Given the description of an element on the screen output the (x, y) to click on. 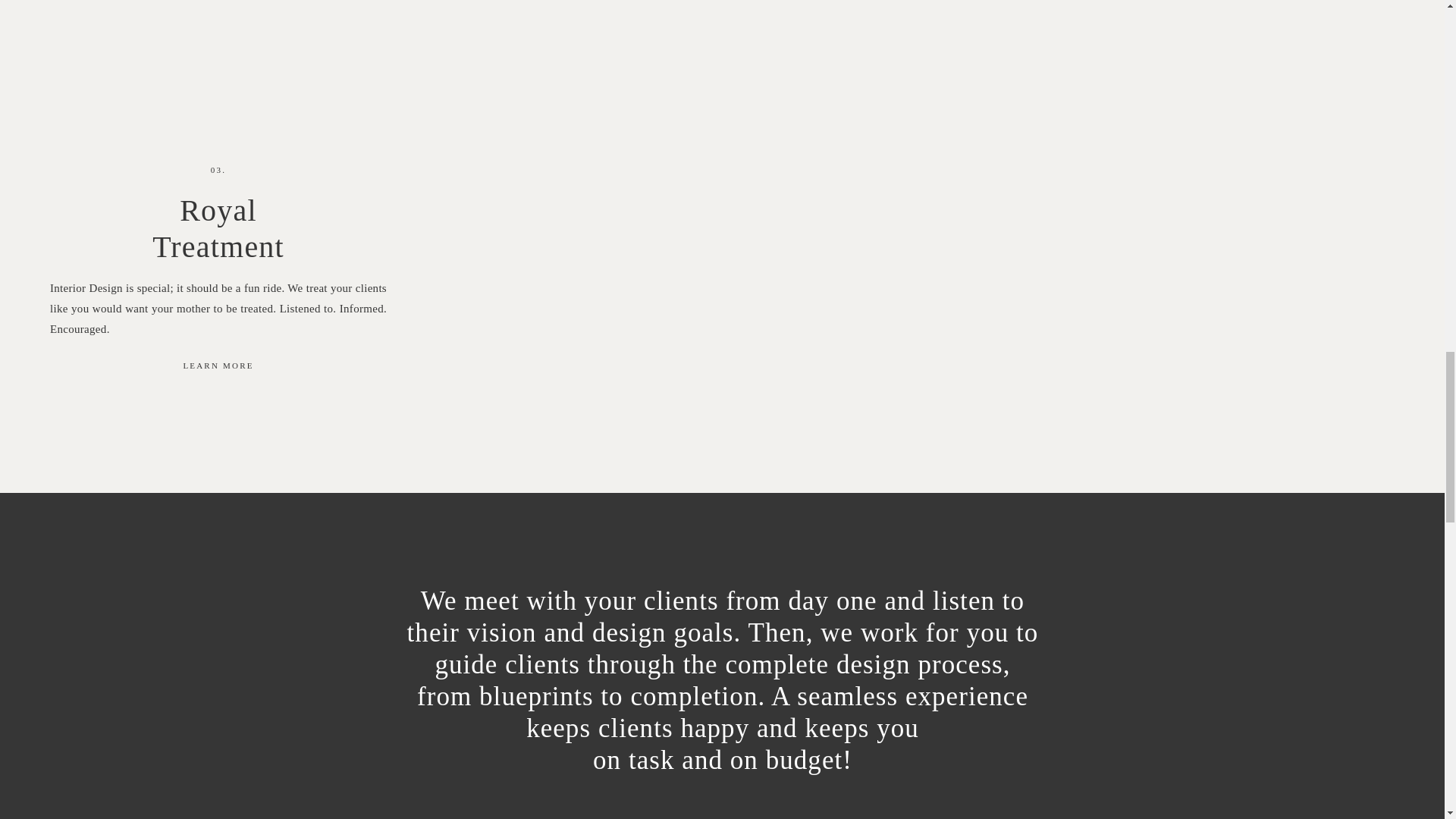
LEARN MORE (218, 367)
03. (218, 231)
